Given the description of an element on the screen output the (x, y) to click on. 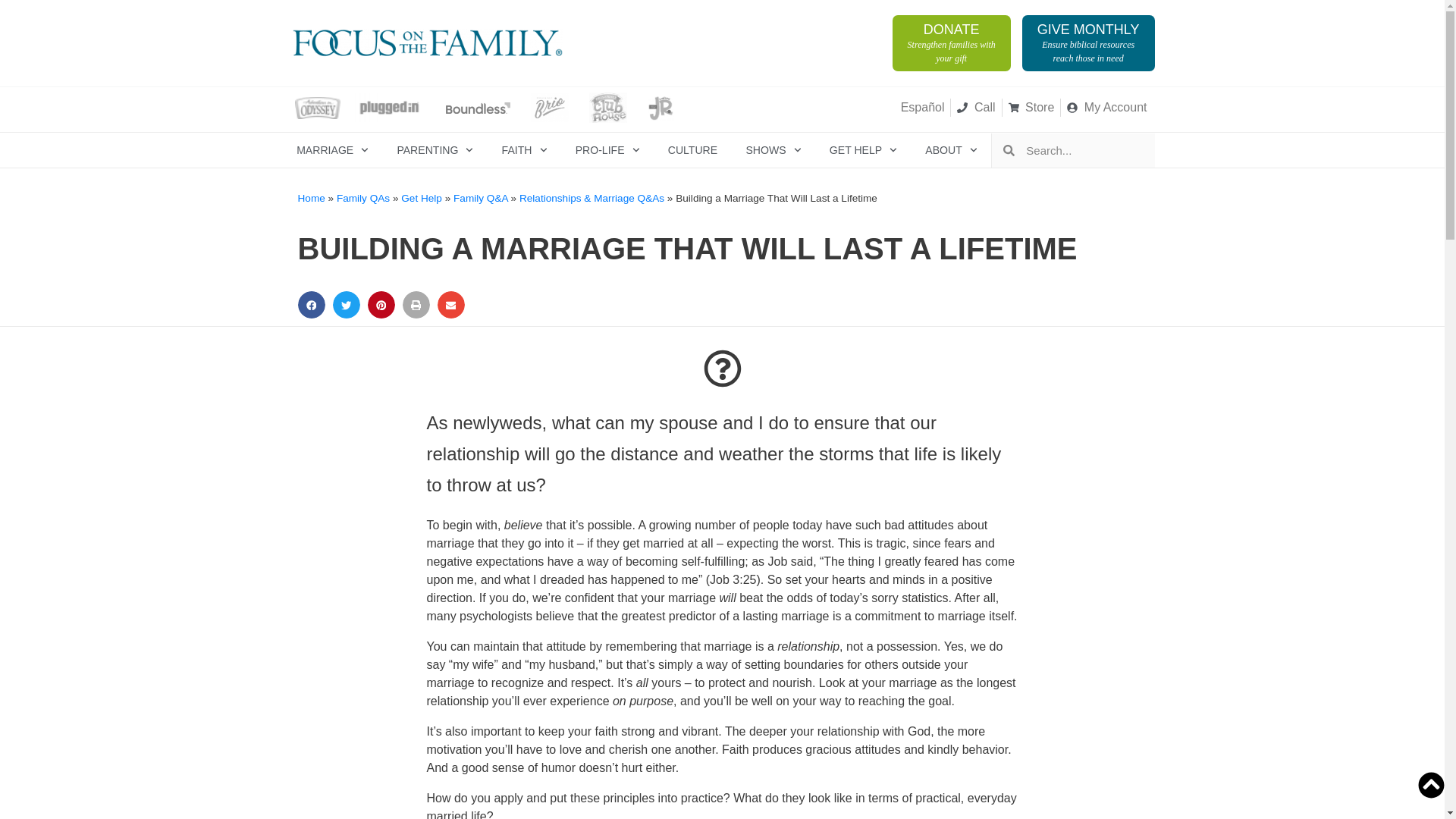
Call (975, 107)
PRO-LIFE (606, 149)
Plugged In (389, 107)
Focus on the Family Clubhouse (607, 107)
Focus on the Family (425, 42)
PARENTING (434, 149)
Focus on the Family Clubhouse Jr. (660, 107)
Adventures in Odyssey (316, 107)
Store (1031, 107)
Boundless (478, 107)
